Given the description of an element on the screen output the (x, y) to click on. 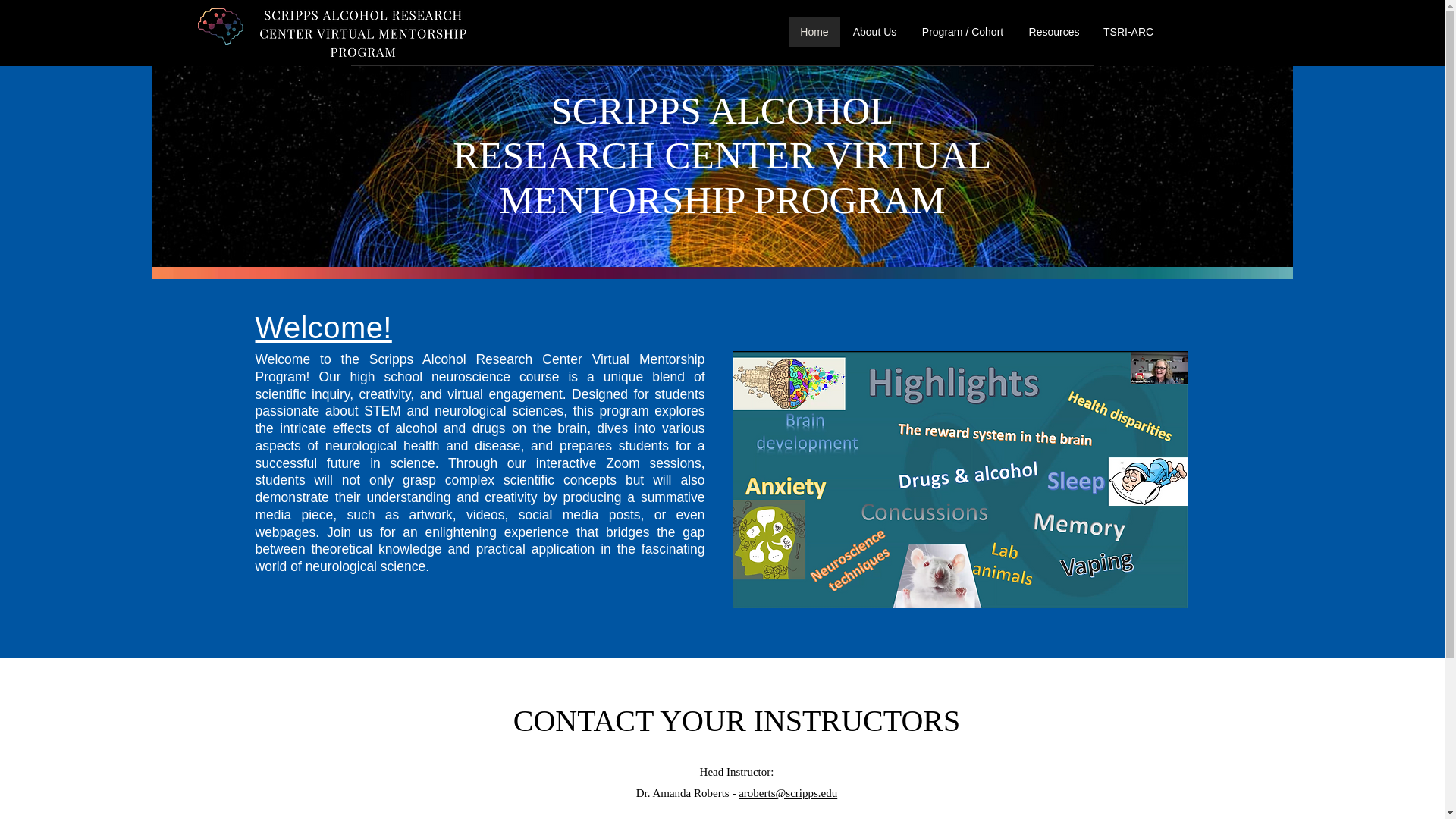
TSRI-ARC (1125, 31)
About Us (874, 31)
Home (813, 31)
Resources (1053, 31)
Dr. Amanda Roberts -  (687, 793)
